Given the description of an element on the screen output the (x, y) to click on. 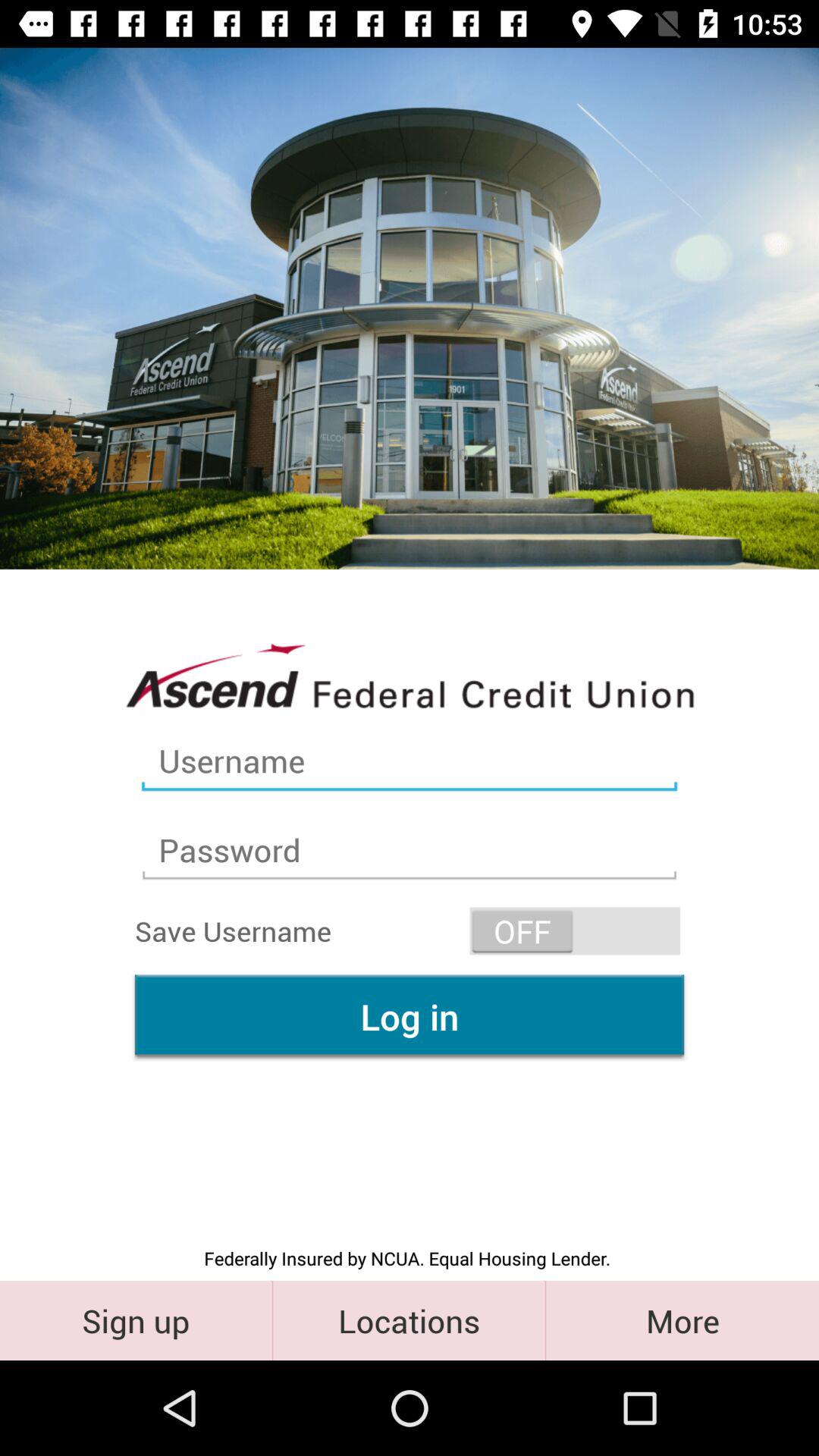
jump to more item (682, 1320)
